Given the description of an element on the screen output the (x, y) to click on. 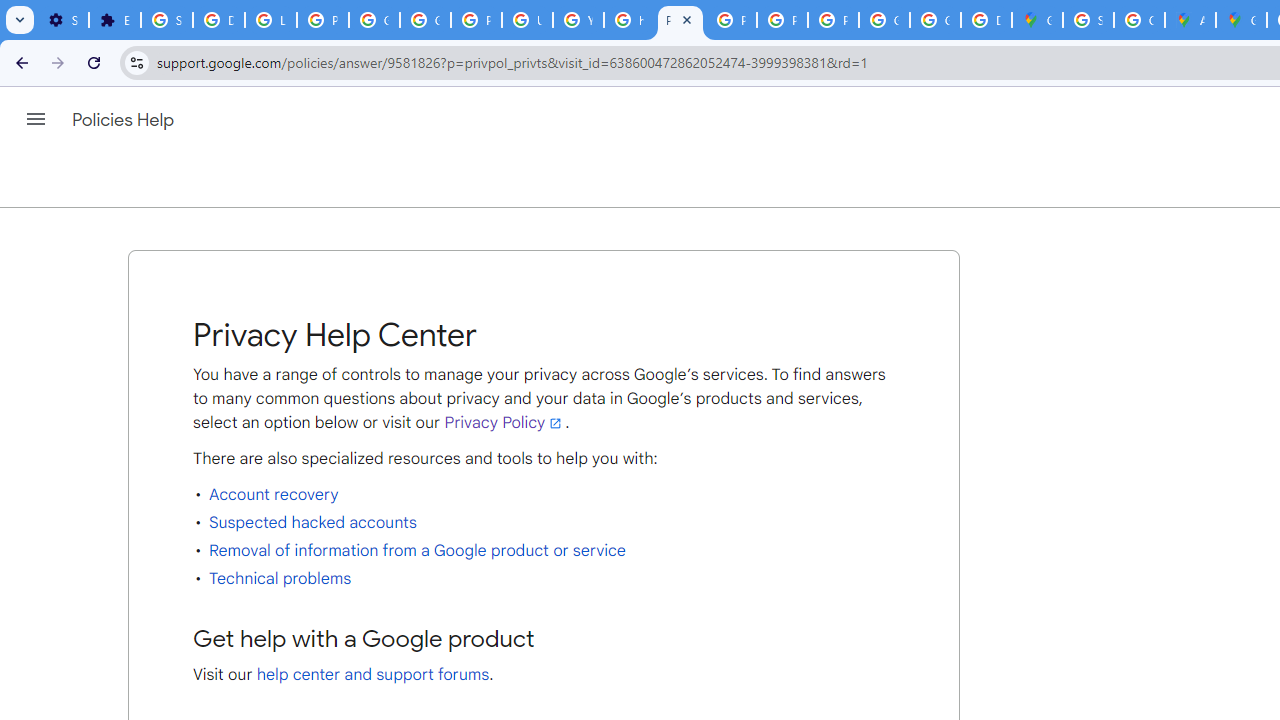
Main menu (35, 119)
Sign in - Google Accounts (166, 20)
help center and support forums (373, 674)
YouTube (578, 20)
https://scholar.google.com/ (629, 20)
Privacy Help Center - Policies Help (680, 20)
